Given the description of an element on the screen output the (x, y) to click on. 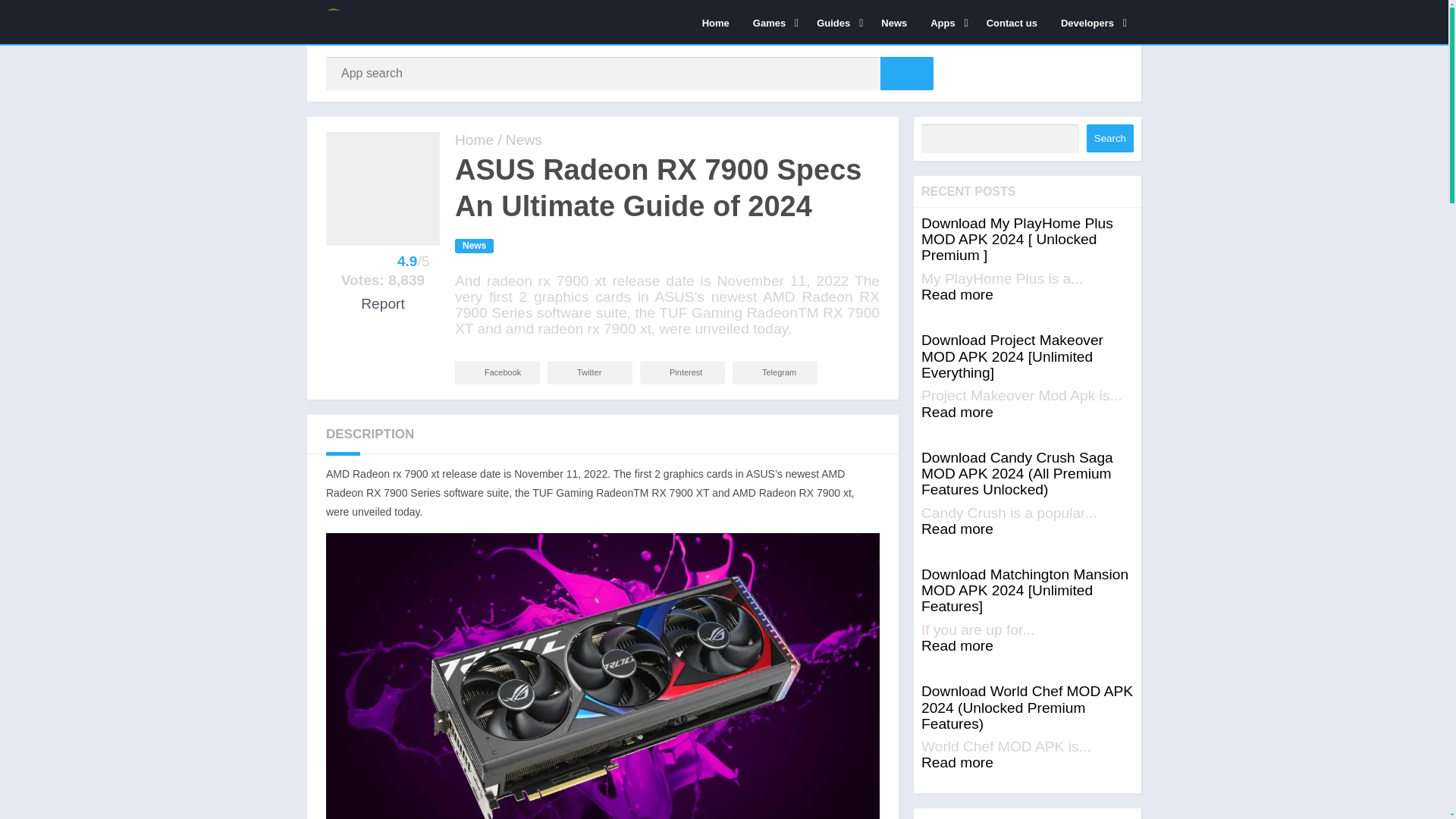
News (893, 22)
Developers (1090, 22)
Guides (837, 22)
Apps (946, 22)
App search (906, 73)
Games (773, 22)
Home (715, 22)
Who's Grip (473, 139)
Contact us (1011, 22)
